Given the description of an element on the screen output the (x, y) to click on. 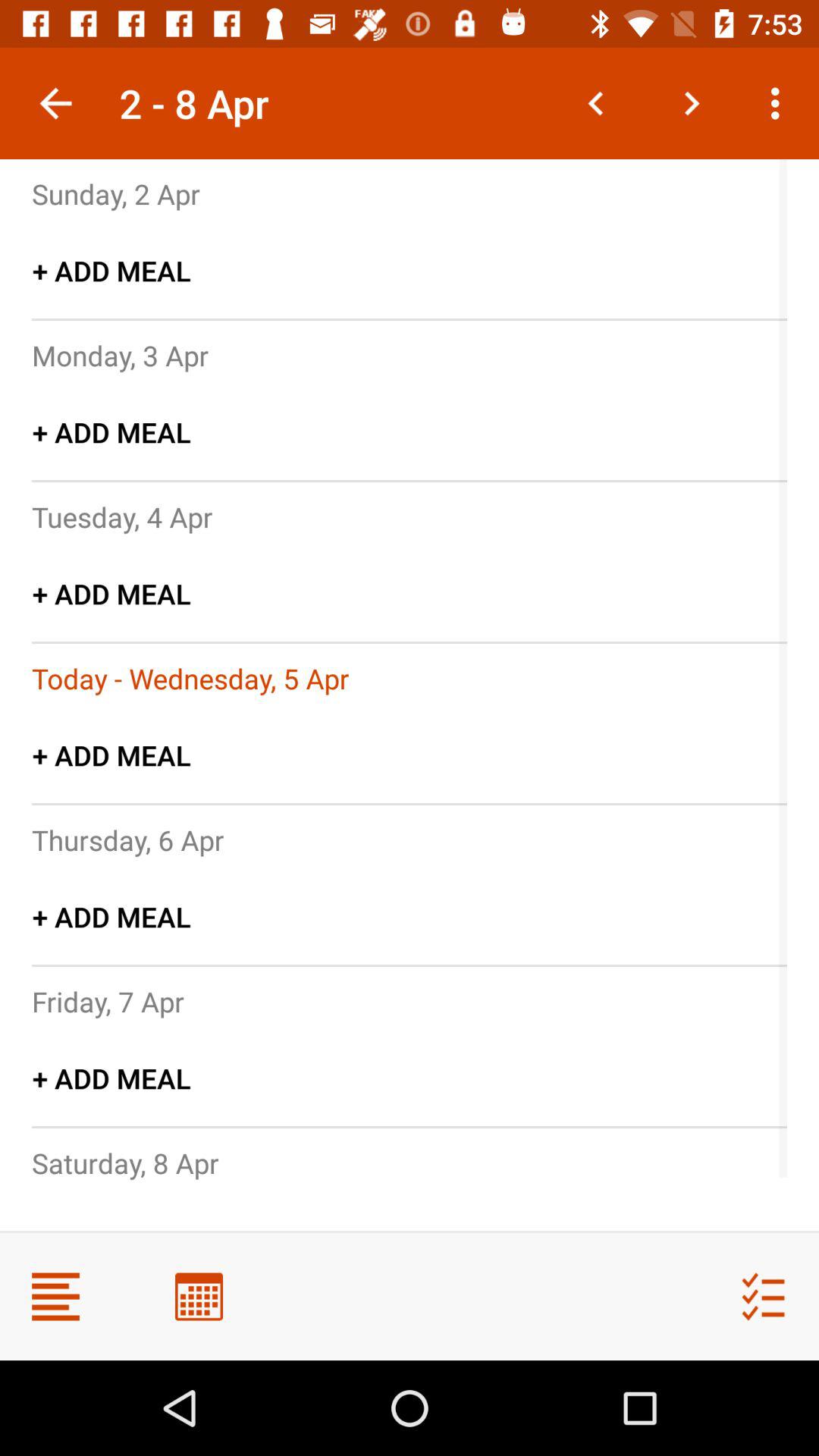
click friday, 7 apr item (107, 1001)
